Given the description of an element on the screen output the (x, y) to click on. 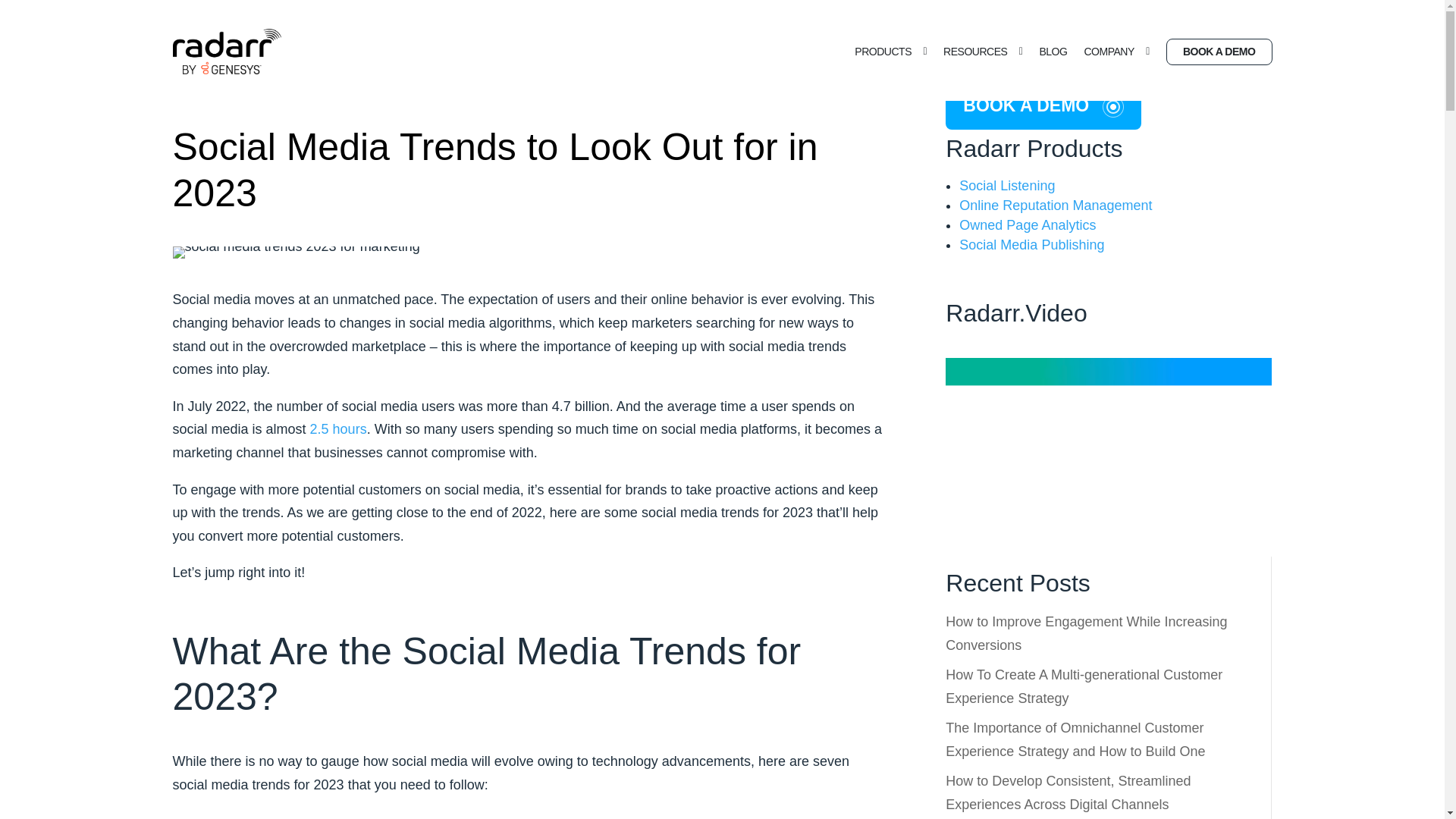
2.5 hours (338, 428)
radarr-video (1107, 442)
BOOK A DEMO (1219, 50)
RESOURCES (982, 51)
PRODUCTS (890, 51)
social media trends 2023 for marketing (296, 252)
COMPANY (1115, 51)
